Given the description of an element on the screen output the (x, y) to click on. 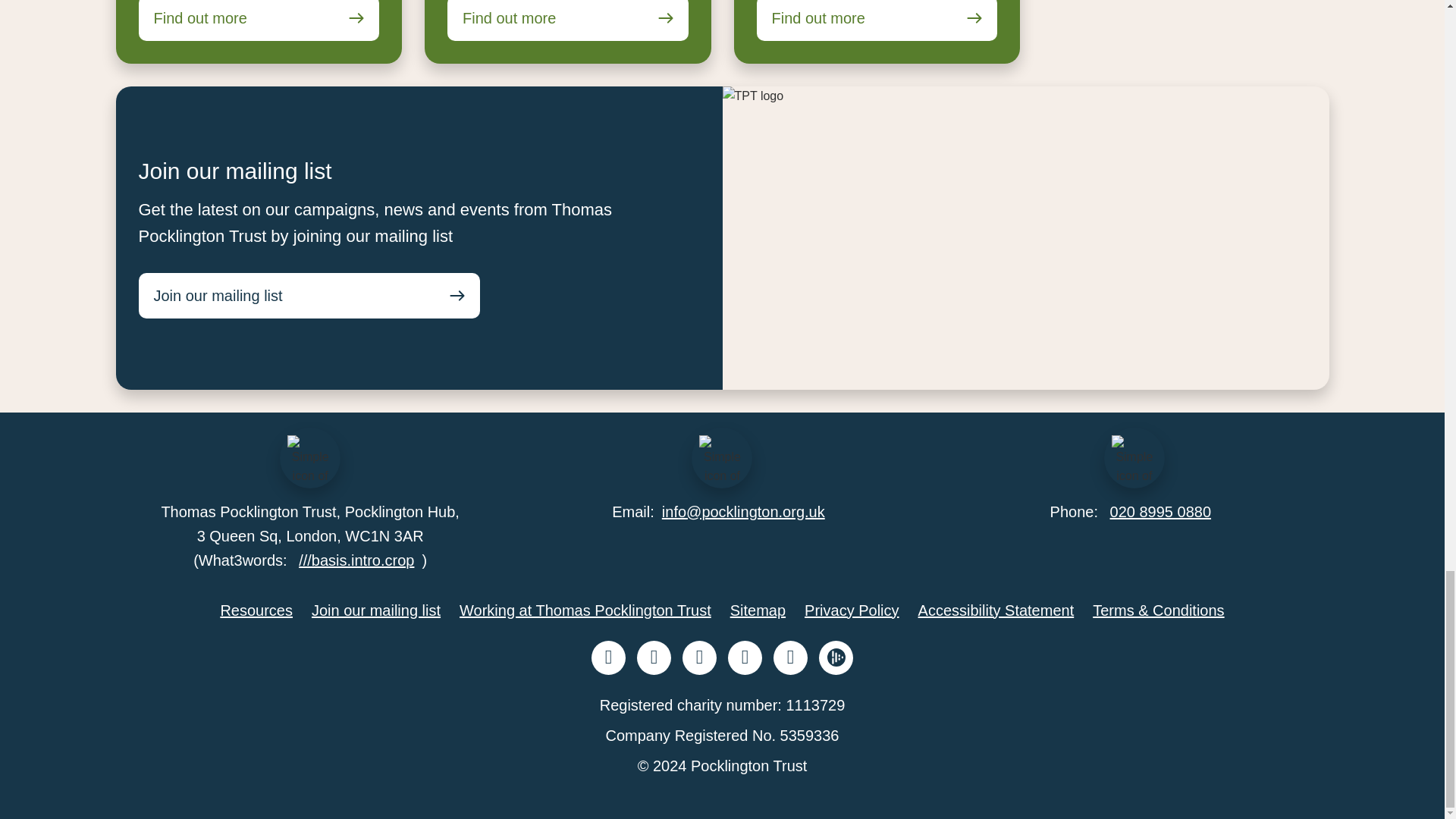
Like us on Facebook (608, 657)
Follow us on Instagram (744, 657)
Follow us on Audioboom (835, 657)
Follow us on Twitter (654, 657)
Follow us on LinkedIn (699, 657)
Follow us on Youtube (790, 657)
